Given the description of an element on the screen output the (x, y) to click on. 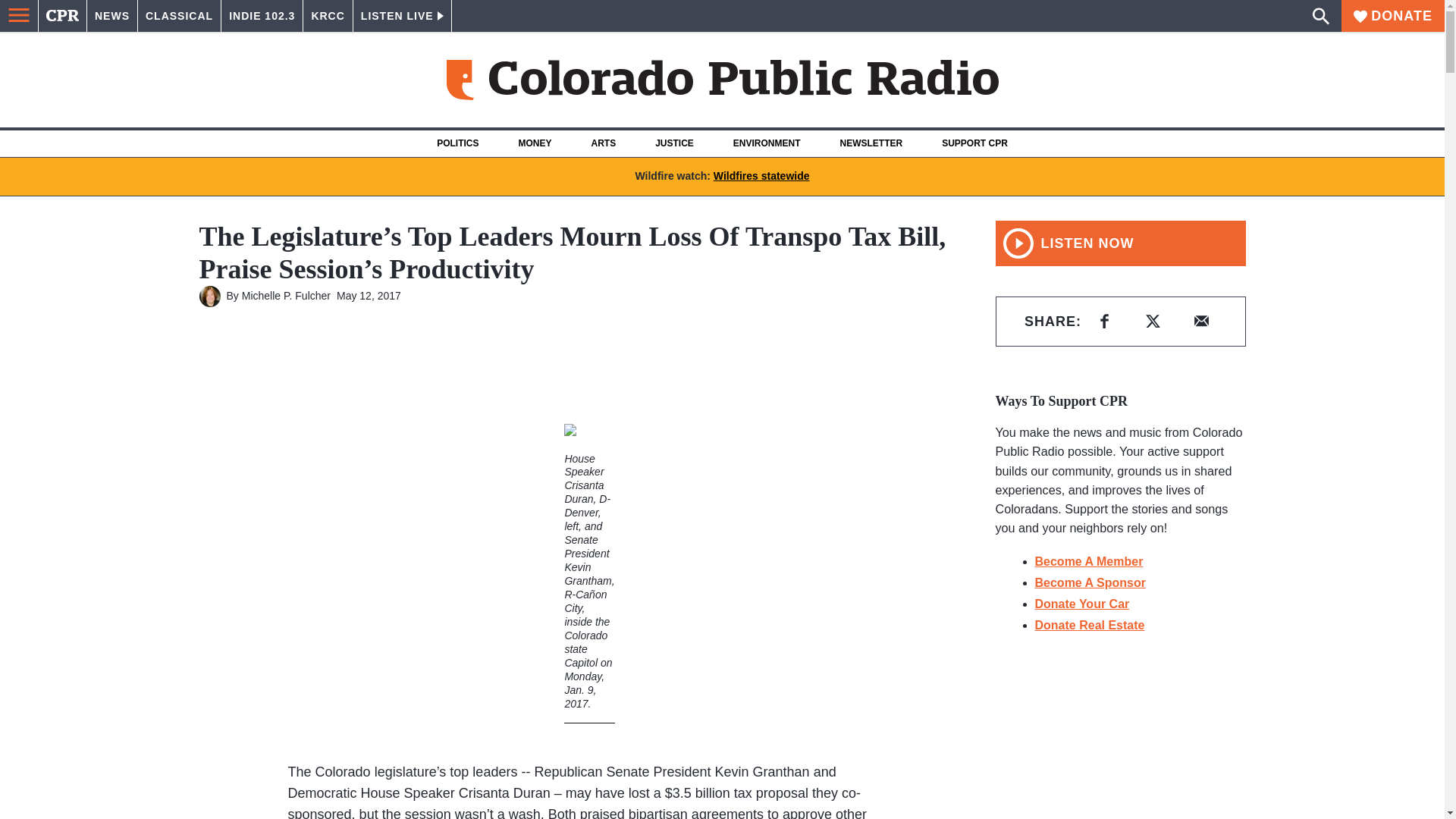
LISTEN LIVE (402, 15)
NEWS (111, 15)
CLASSICAL (179, 15)
INDIE 102.3 (261, 15)
KRCC (327, 15)
